Given the description of an element on the screen output the (x, y) to click on. 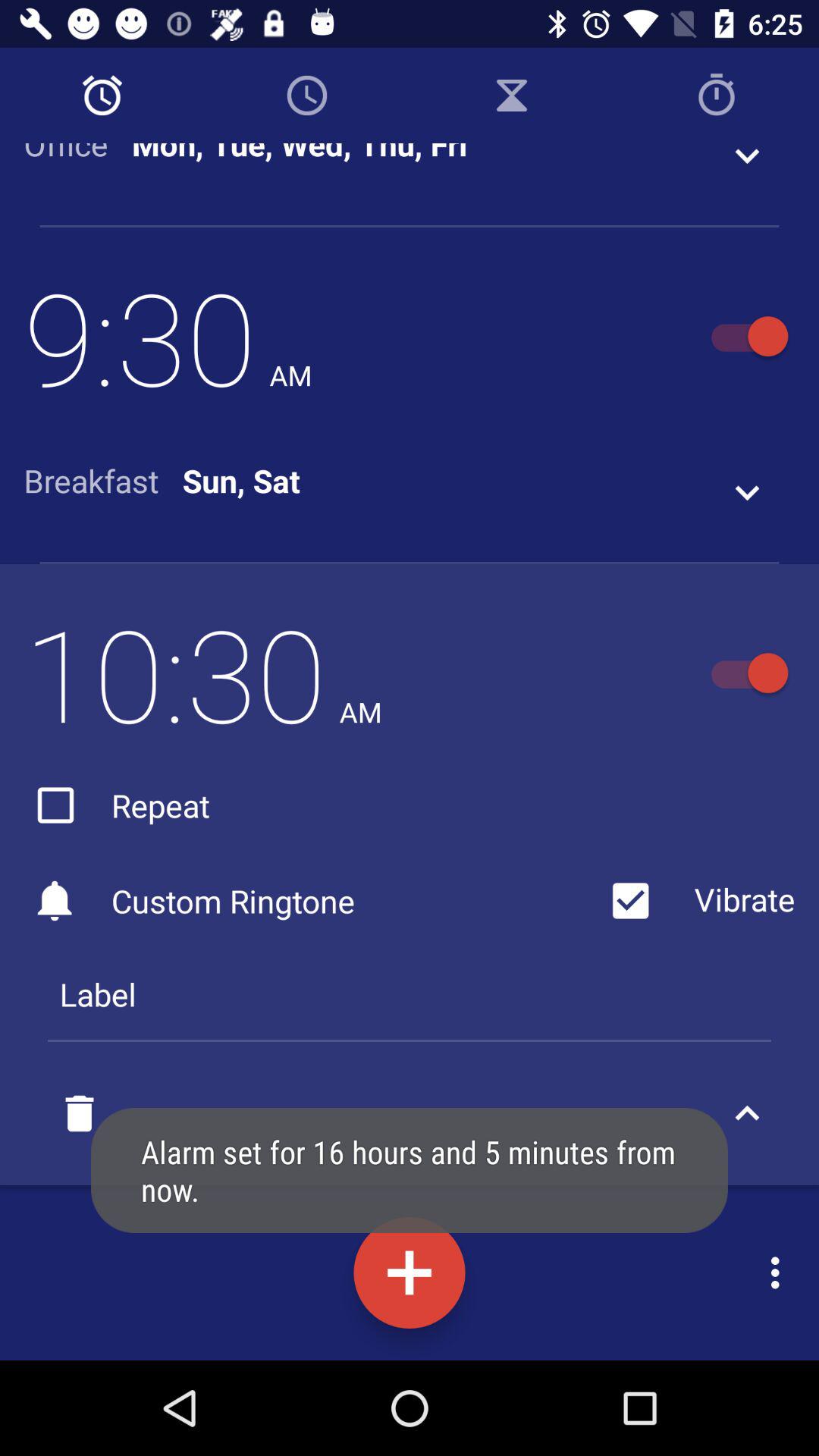
launch icon next to sun, sat item (102, 480)
